Given the description of an element on the screen output the (x, y) to click on. 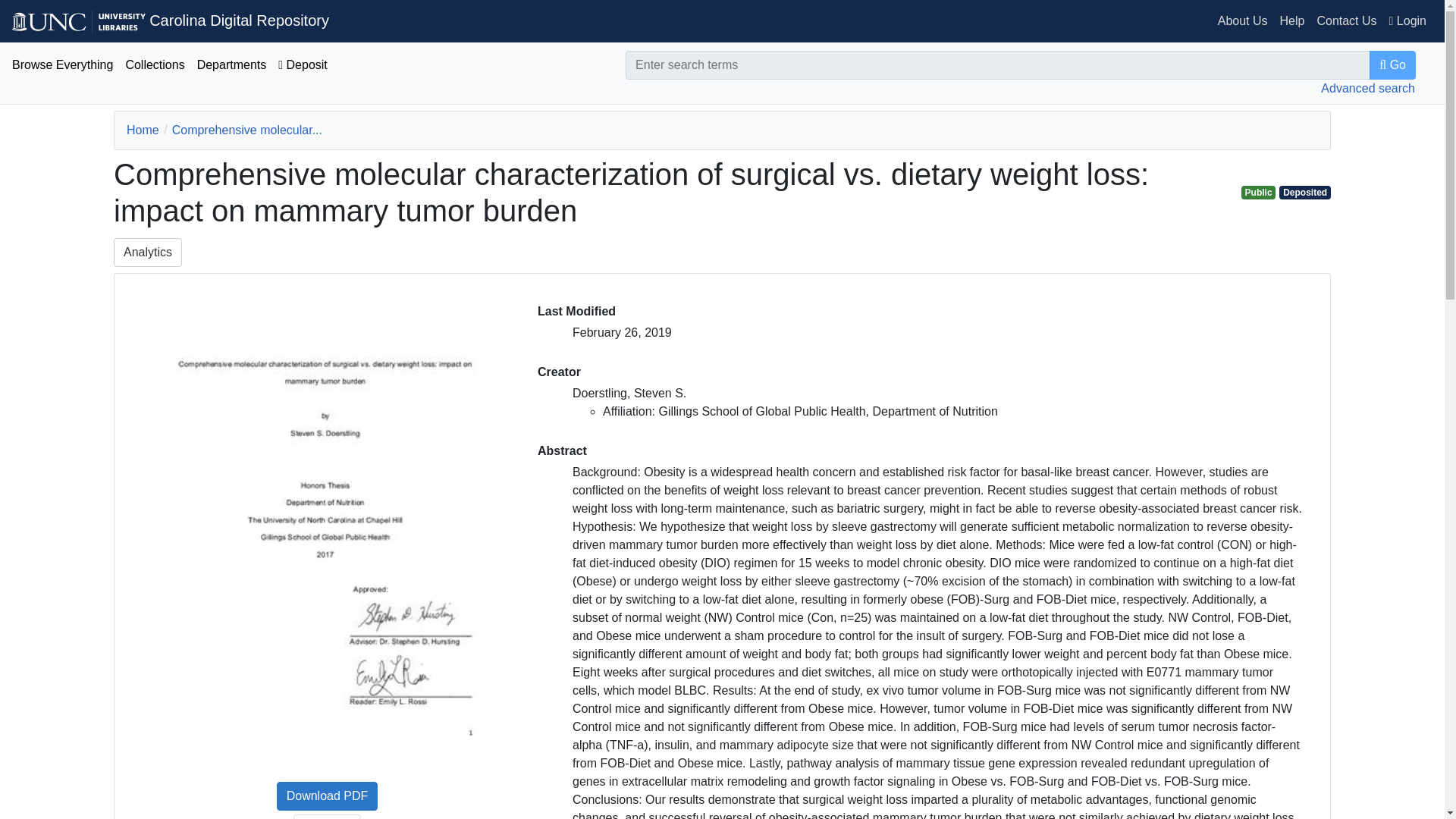
About Us (1242, 20)
Help (1292, 20)
Go (1392, 64)
Collections (154, 64)
Deposit (302, 64)
Contact Us (1345, 20)
Browse Everything (62, 64)
Departments (231, 64)
Analytics (147, 252)
Home (142, 129)
Login (1407, 20)
Advanced search (1367, 88)
Citations (326, 816)
Carolina Digital Repository (170, 20)
Comprehensive molecular... (246, 129)
